Given the description of an element on the screen output the (x, y) to click on. 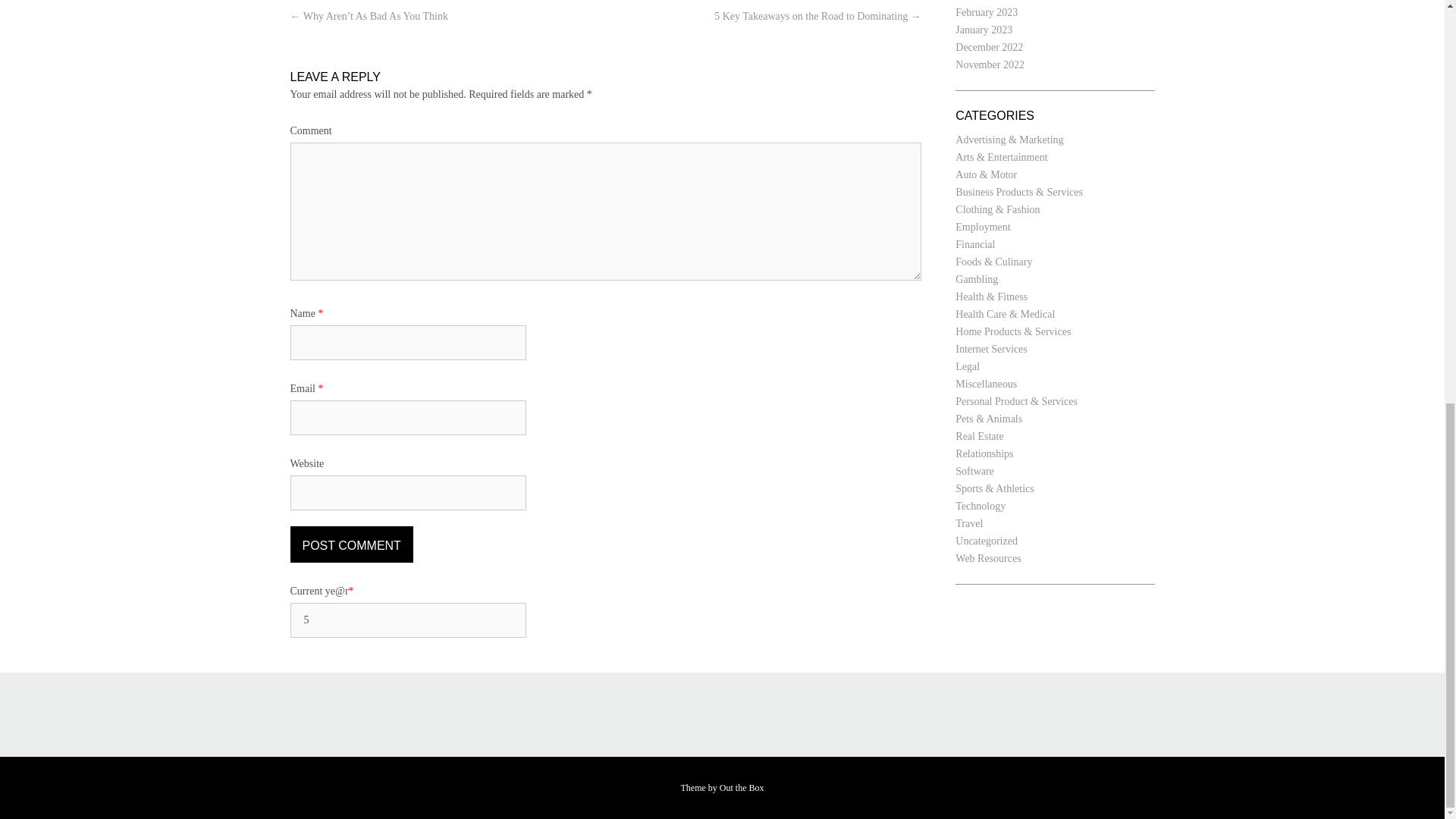
November 2022 (990, 64)
Post Comment (350, 544)
February 2023 (986, 12)
December 2022 (989, 47)
March 2023 (981, 0)
January 2023 (983, 30)
Post Comment (350, 544)
5 (407, 620)
